Given the description of an element on the screen output the (x, y) to click on. 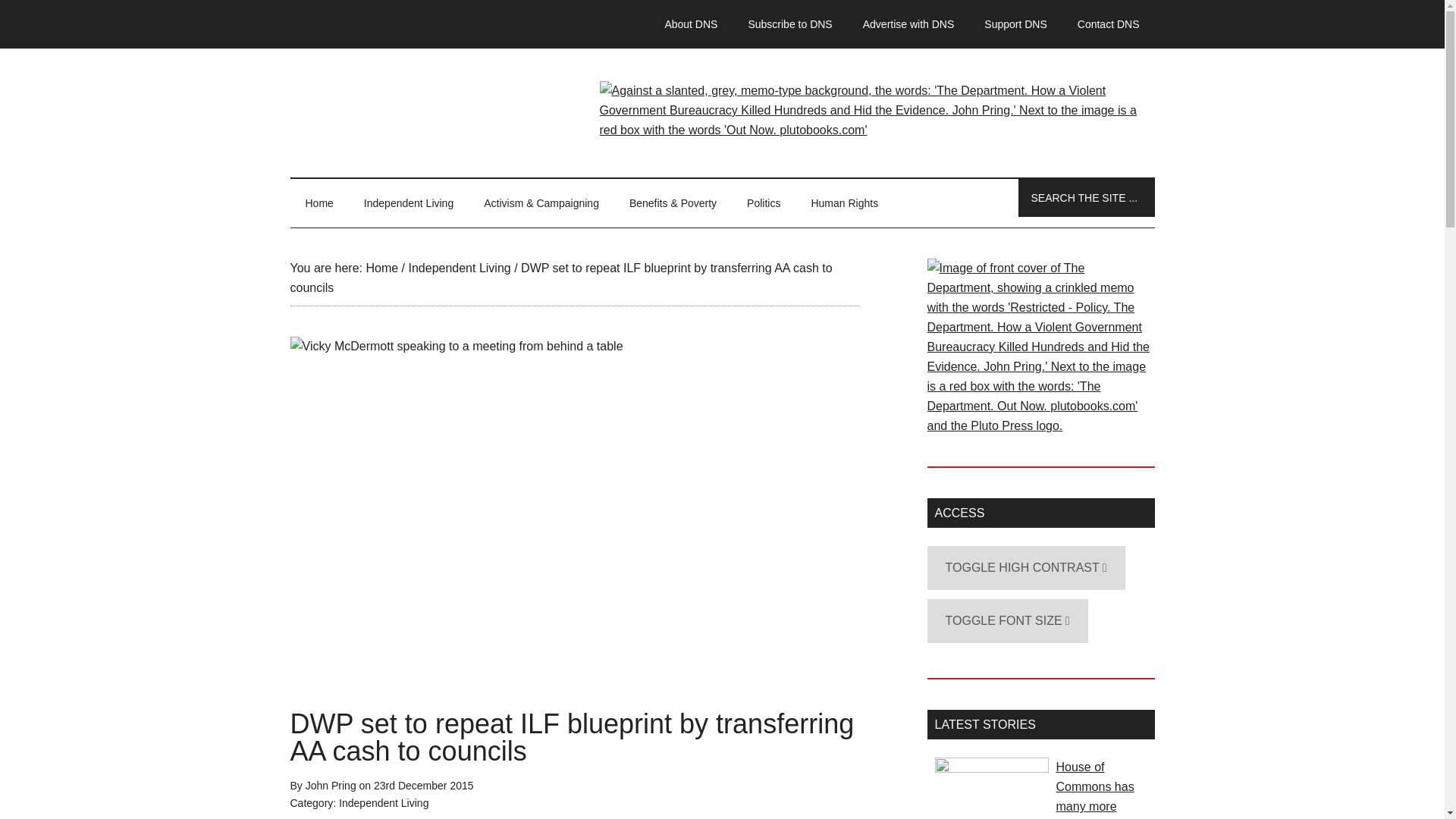
Support DNS (1015, 24)
Independent Living (408, 203)
About DNS (690, 24)
Contact DNS (1108, 24)
Home (318, 203)
Disability News Service (721, 112)
Subscribe to DNS (789, 24)
Human Rights (843, 203)
Advertise with DNS (908, 24)
